Given the description of an element on the screen output the (x, y) to click on. 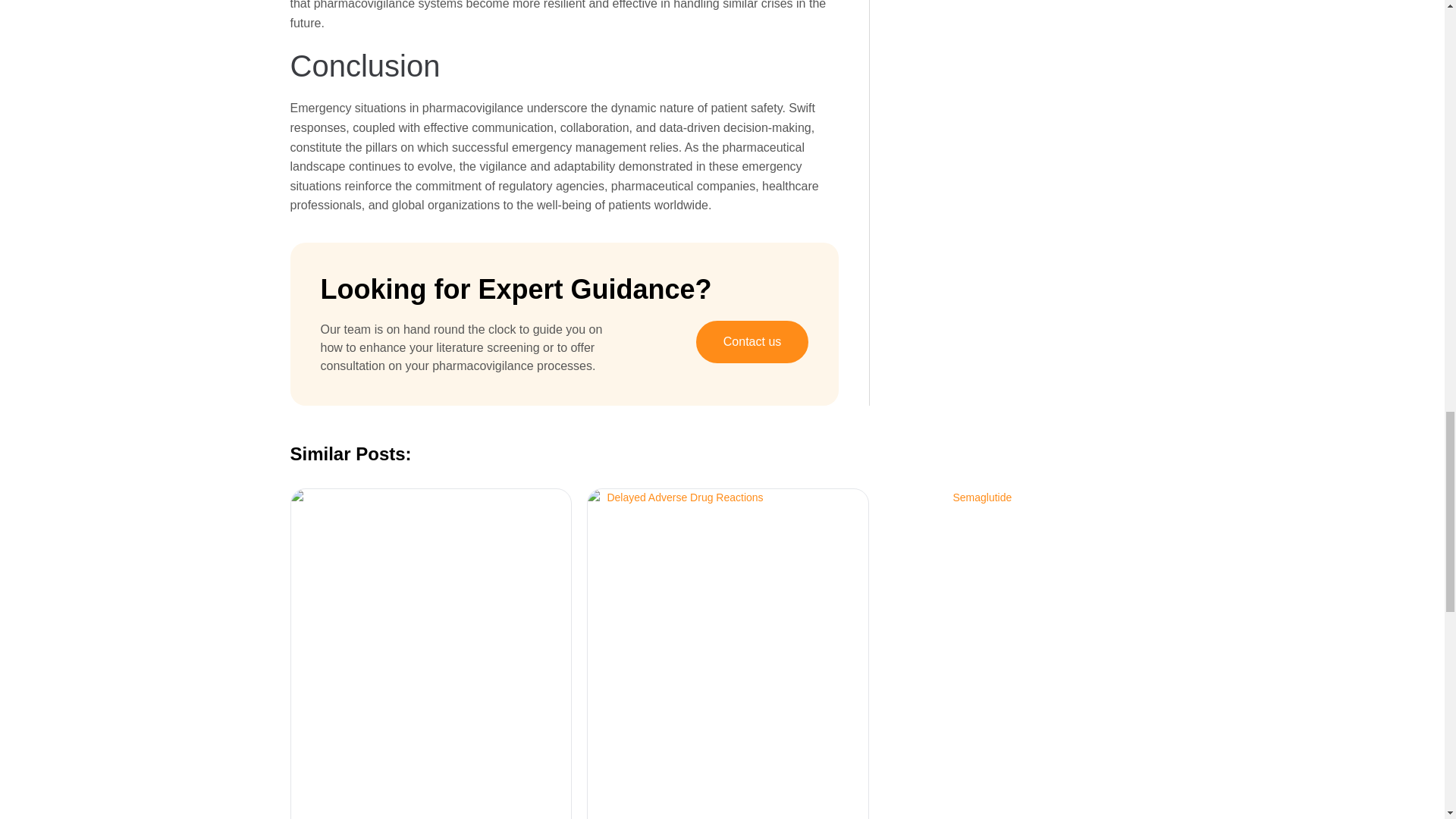
Contact us (751, 342)
